Given the description of an element on the screen output the (x, y) to click on. 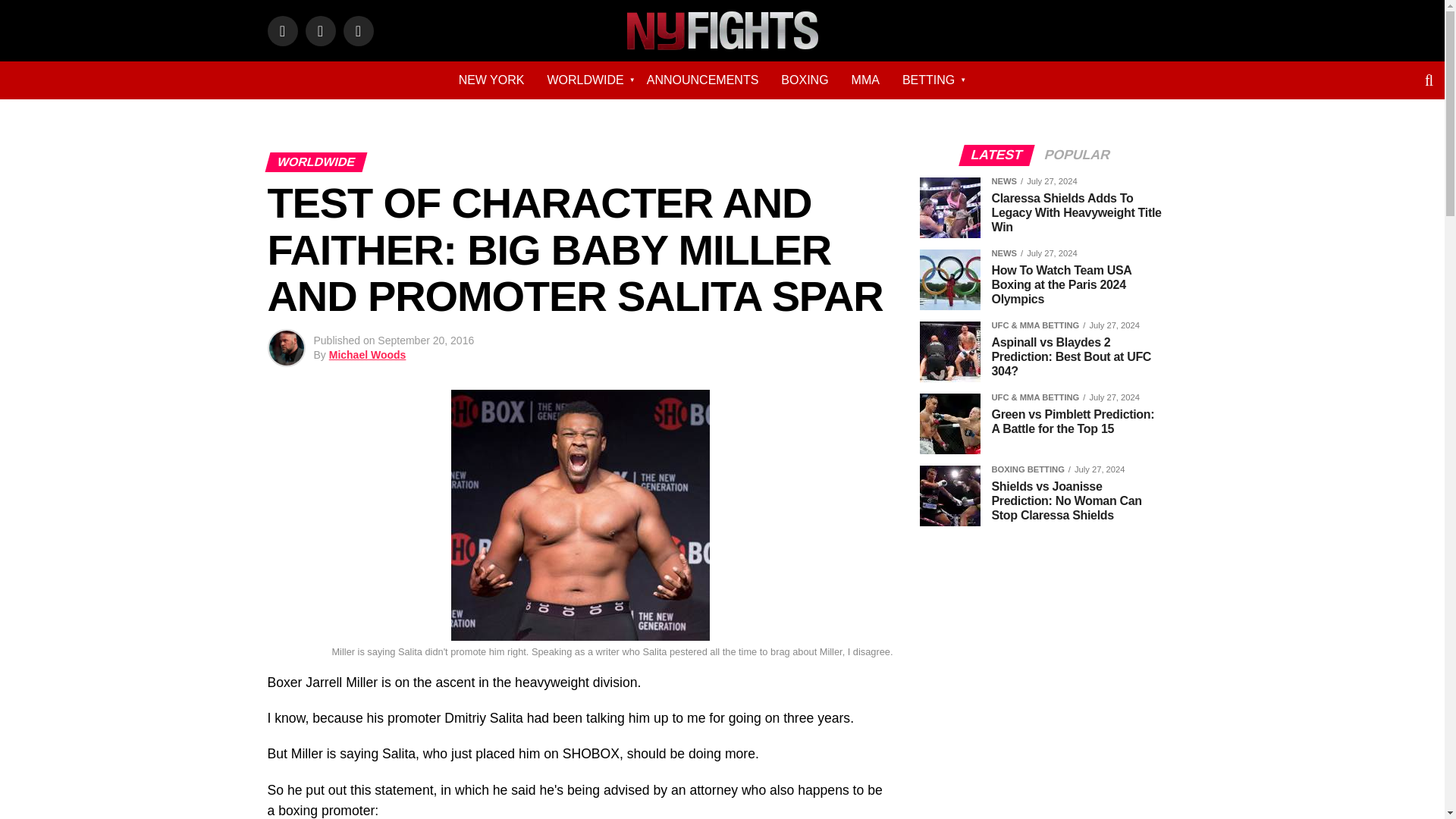
MMA (865, 80)
BOXING (805, 80)
WORLDWIDE (584, 80)
BETTING (928, 80)
NEW YORK (490, 80)
ANNOUNCEMENTS (702, 80)
